Given the description of an element on the screen output the (x, y) to click on. 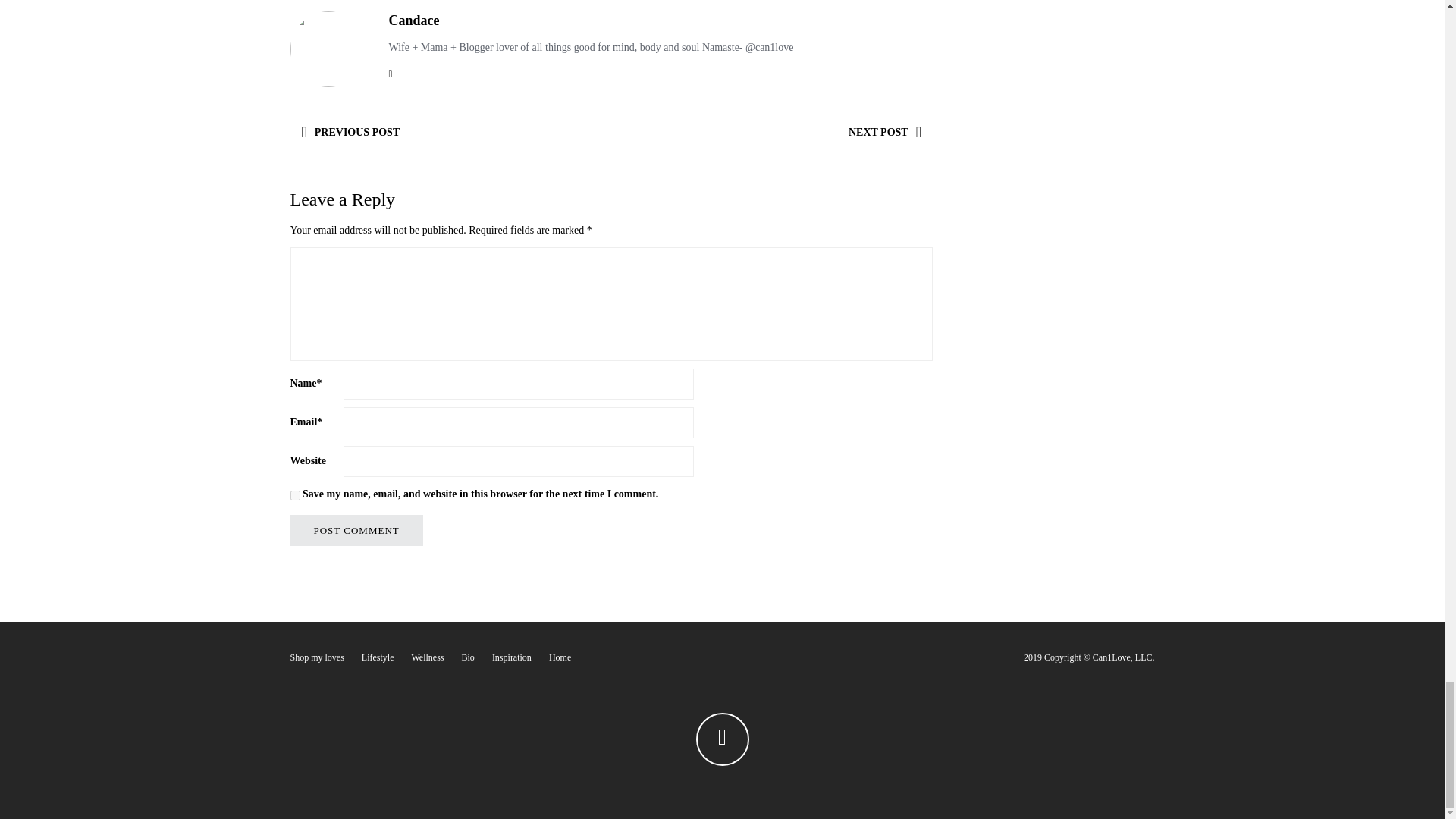
Post comment (355, 530)
Post comment (355, 530)
Candace (413, 20)
NEXT POST (884, 132)
PREVIOUS POST (350, 132)
yes (294, 495)
